Given the description of an element on the screen output the (x, y) to click on. 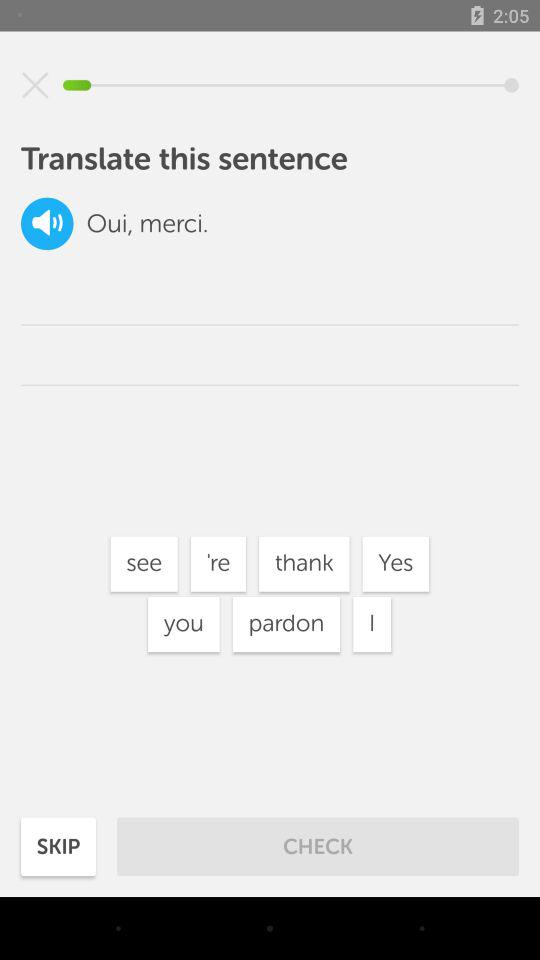
open icon above translate this sentence (35, 85)
